Given the description of an element on the screen output the (x, y) to click on. 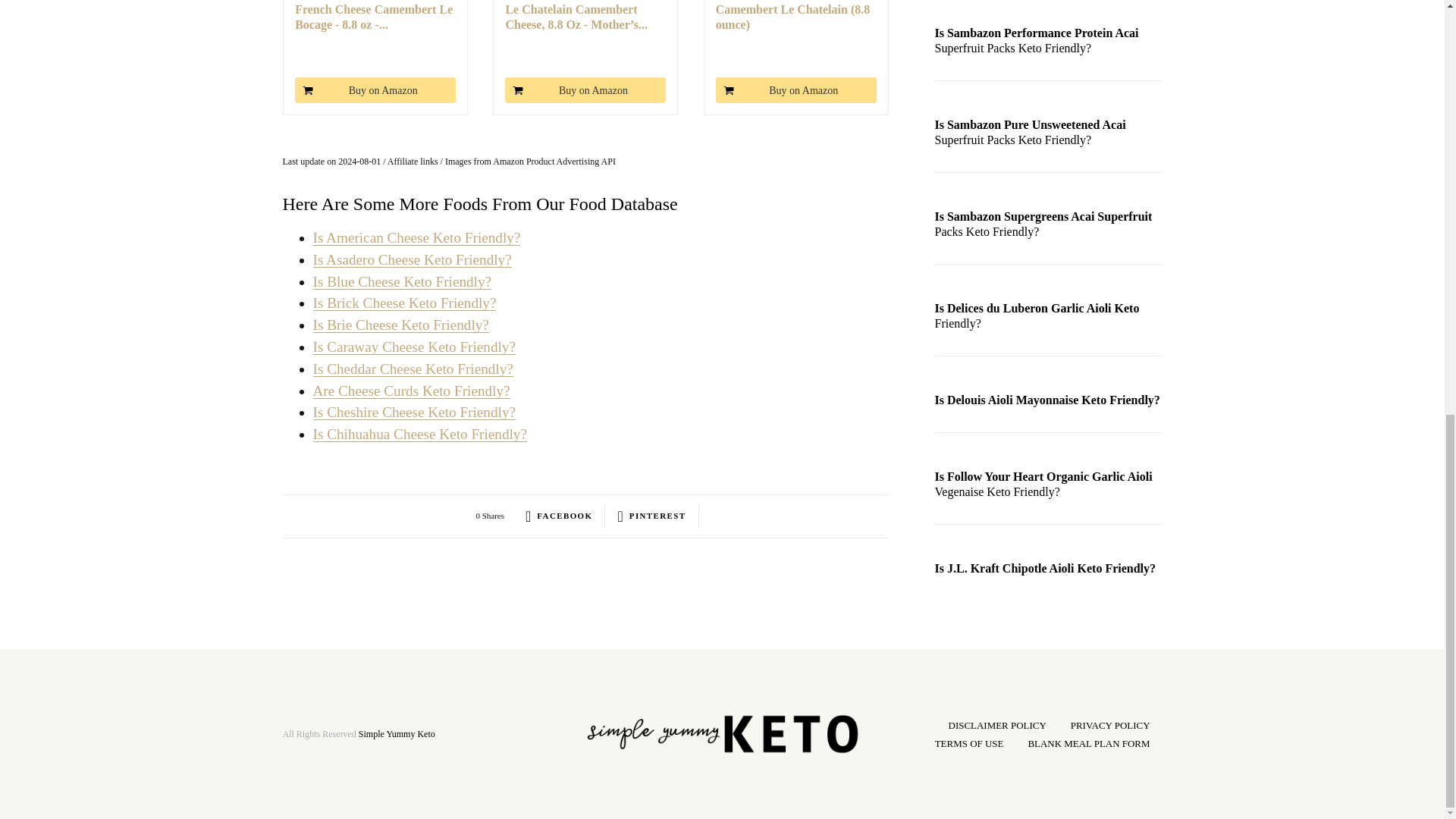
Buy on Amazon (585, 89)
Is Asadero Cheese Keto Friendly? (412, 259)
Is Cheddar Cheese Keto Friendly? (412, 368)
Is Chihuahua Cheese Keto Friendly? (419, 433)
FACEBOOK (558, 516)
Buy on Amazon (375, 89)
Buy on Amazon (796, 89)
Buy on Amazon (375, 89)
Is Brick Cheese Keto Friendly? (404, 302)
Is American Cheese Keto Friendly? (416, 237)
